Given the description of an element on the screen output the (x, y) to click on. 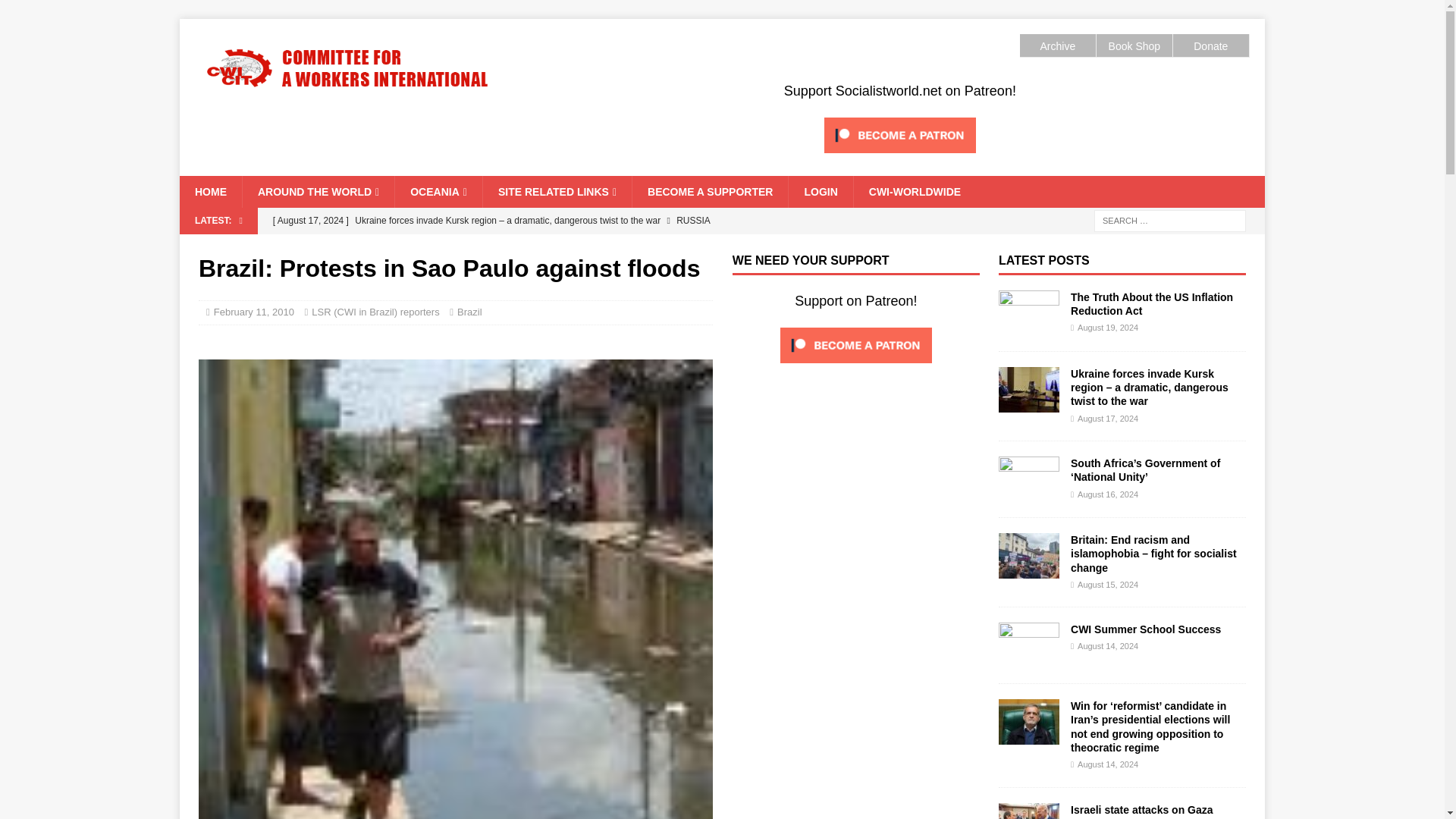
Donate (1210, 46)
Archive (1057, 46)
Book Shop (1134, 46)
